Given the description of an element on the screen output the (x, y) to click on. 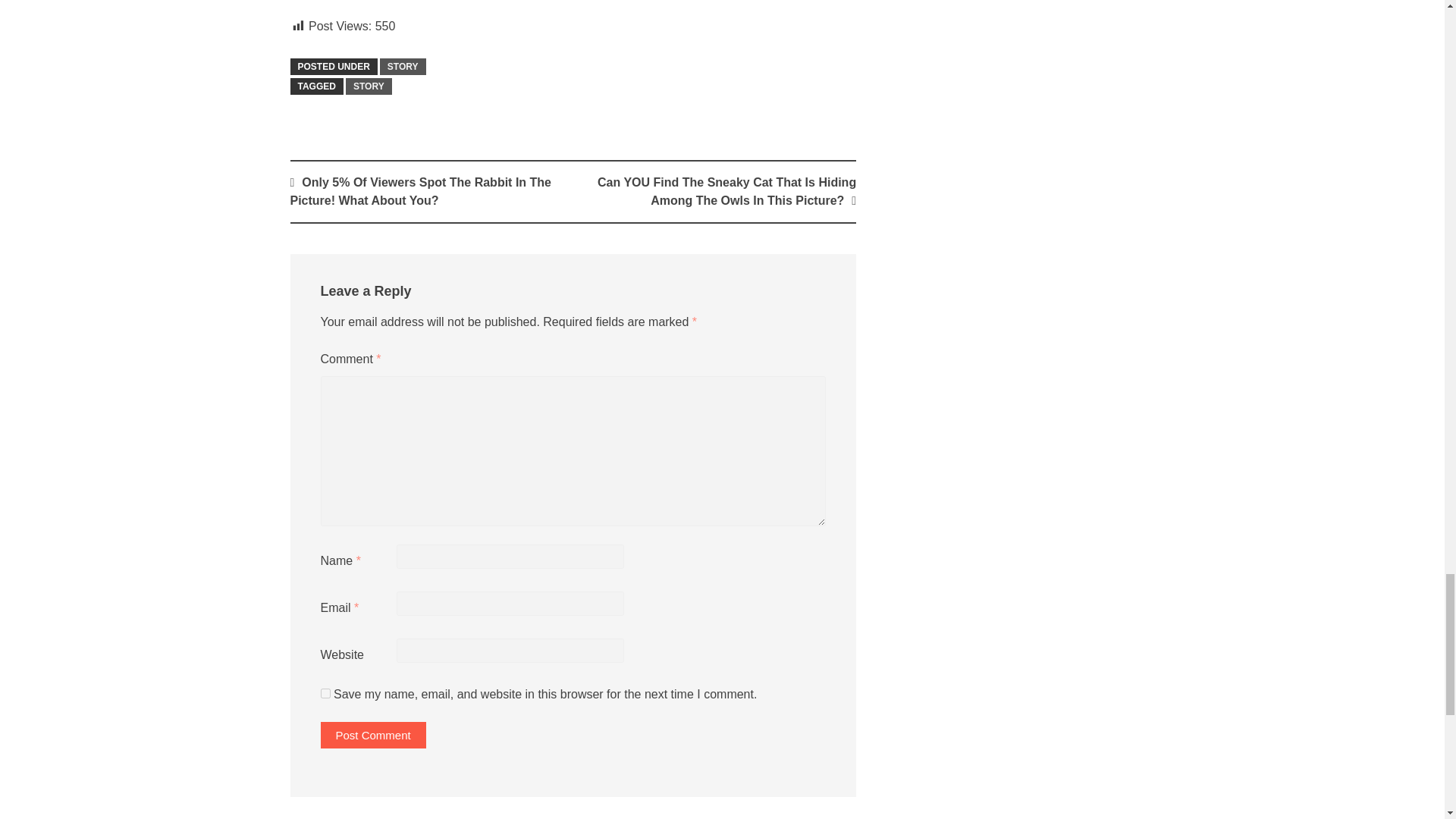
STORY (403, 66)
STORY (368, 86)
yes (325, 693)
Post Comment (372, 734)
Post Comment (372, 734)
